Given the description of an element on the screen output the (x, y) to click on. 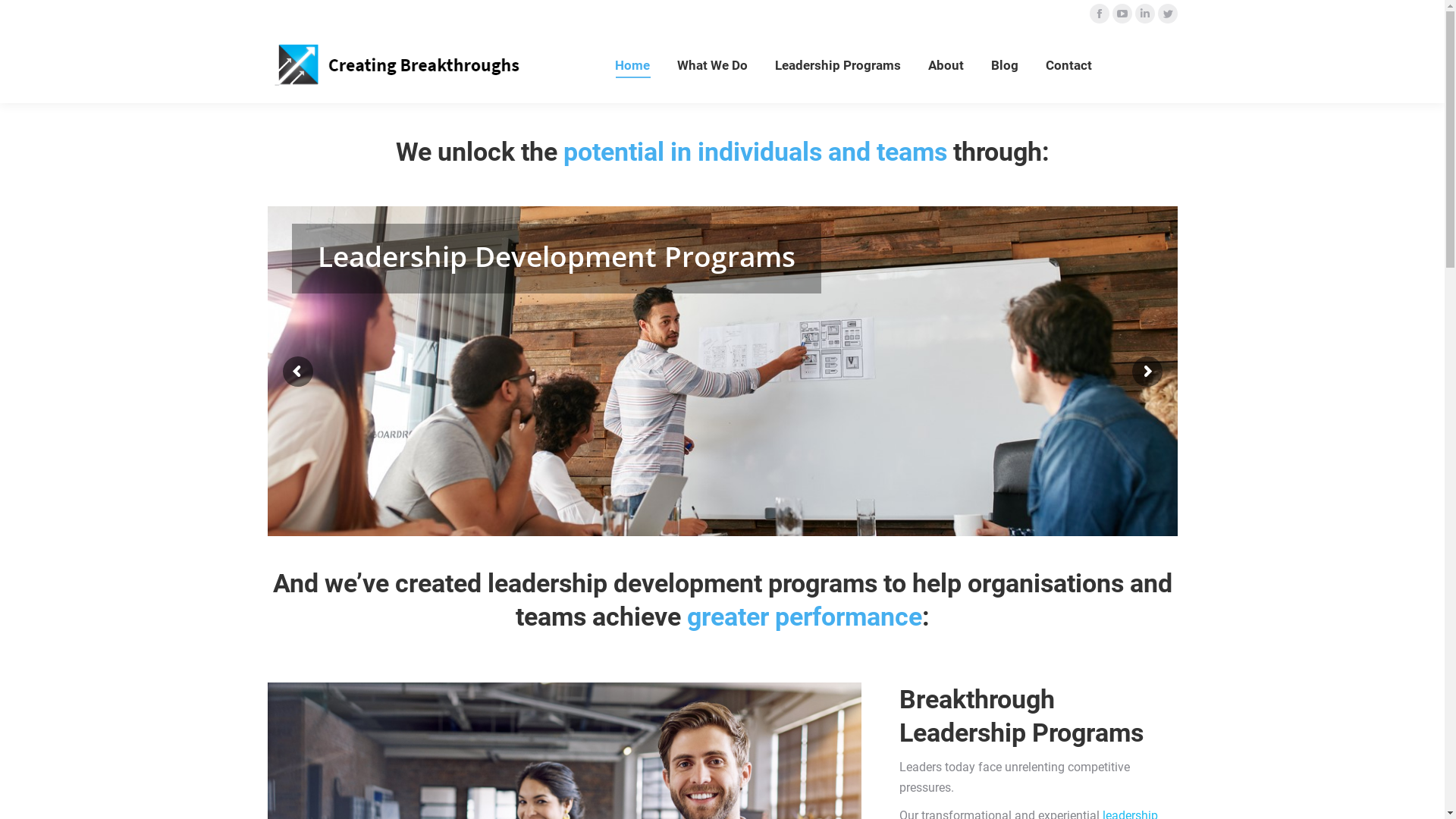
YouTube page opens in new window Element type: text (1121, 13)
Leadership Programs Element type: text (837, 64)
Facebook page opens in new window Element type: text (1098, 13)
Linkedin page opens in new window Element type: text (1144, 13)
Blog Element type: text (1003, 64)
Twitter page opens in new window Element type: text (1166, 13)
Contact Element type: text (1067, 64)
About Element type: text (945, 64)
What We Do Element type: text (711, 64)
Home Element type: text (631, 64)
